Given the description of an element on the screen output the (x, y) to click on. 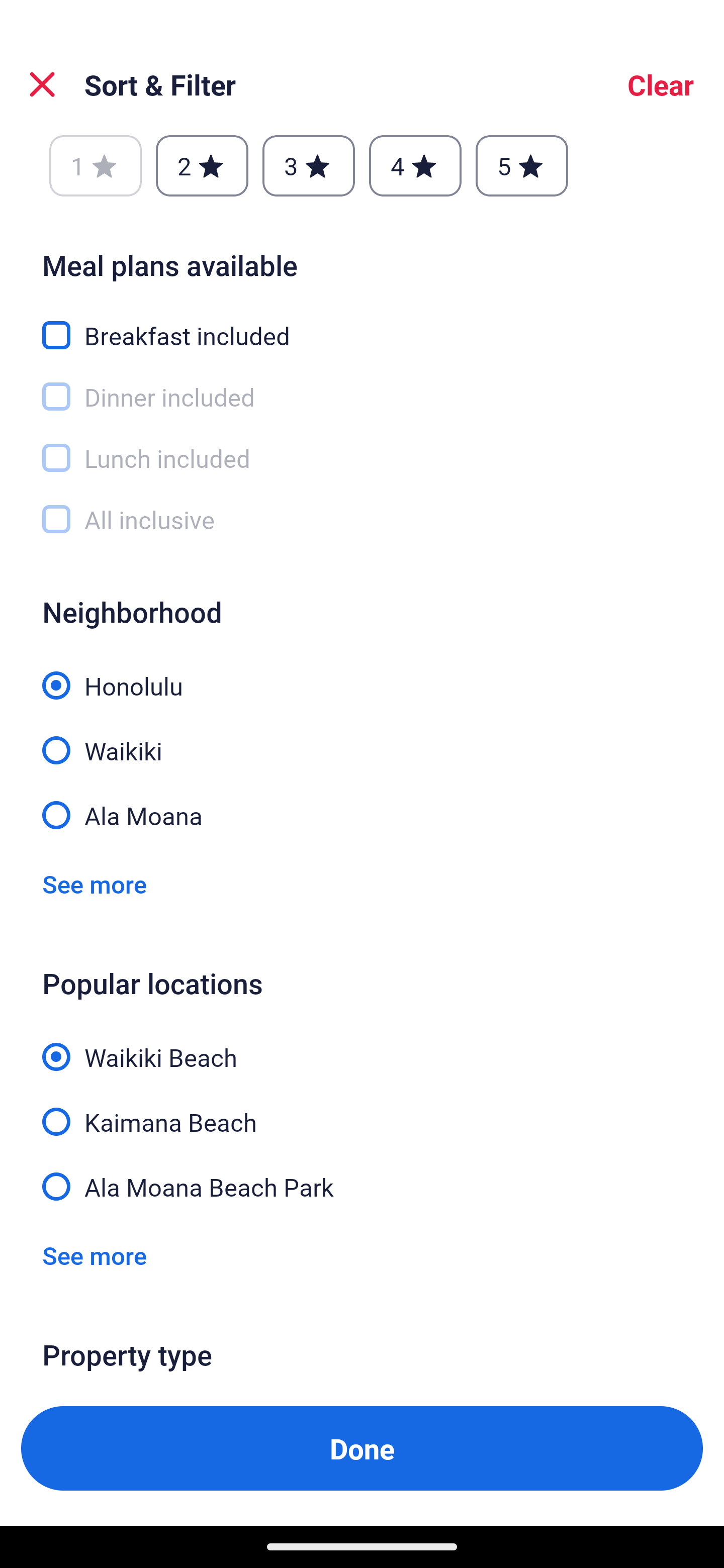
Close Sort and Filter (42, 84)
Clear (660, 84)
1 (95, 167)
2 (201, 167)
3 (308, 167)
4 (415, 167)
5 (521, 167)
Breakfast included, Breakfast included (361, 323)
Dinner included, Dinner included (361, 384)
Lunch included, Lunch included (361, 445)
All inclusive, All inclusive (361, 518)
Waikiki (361, 739)
Ala Moana (361, 813)
See more See more neighborhoods Link (93, 884)
Kaimana Beach (361, 1110)
Ala Moana Beach Park (361, 1185)
See more See more popular locations Link (93, 1255)
Apply and close Sort and Filter Done (361, 1448)
